Given the description of an element on the screen output the (x, y) to click on. 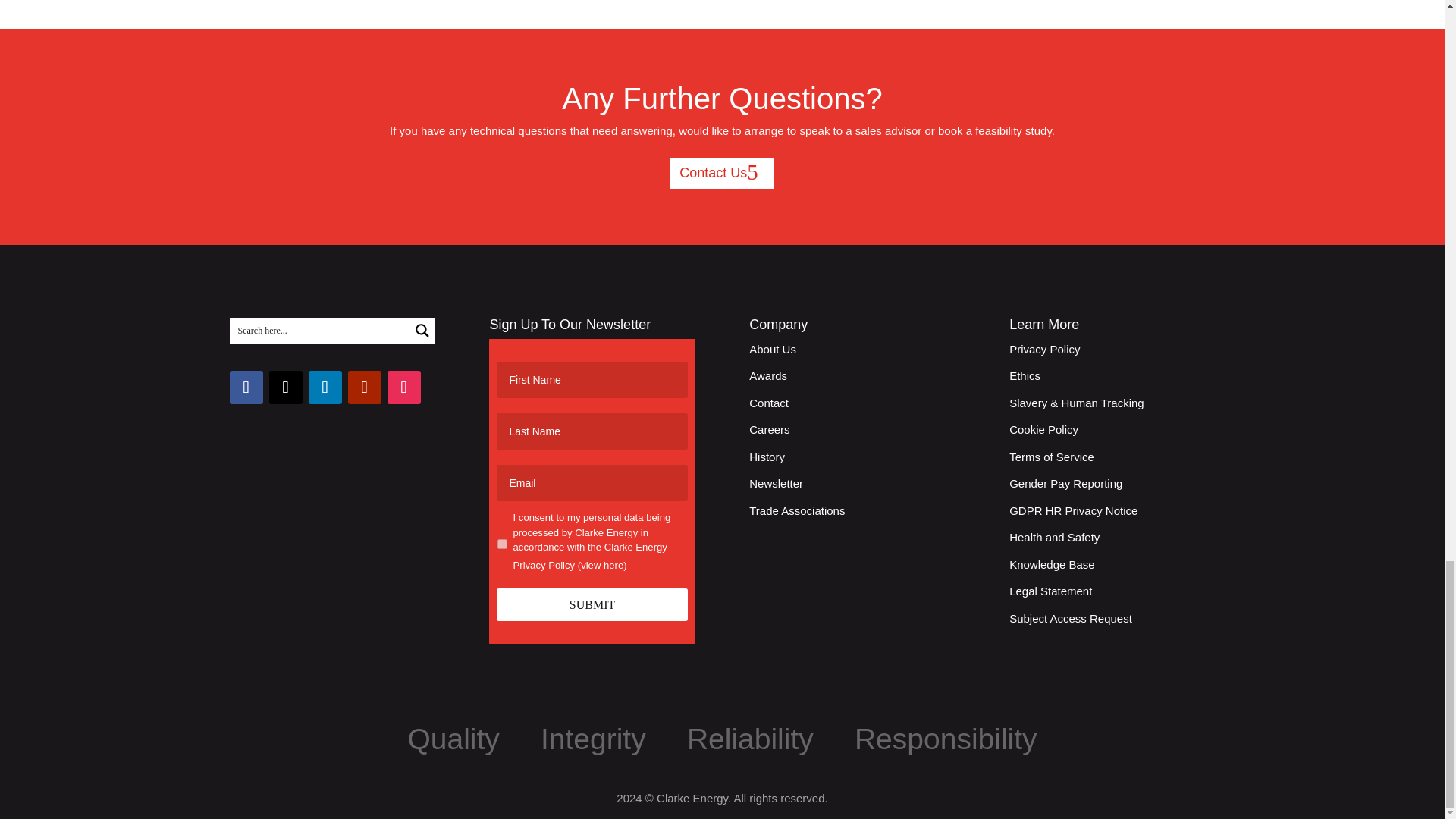
Submit (591, 604)
